Given the description of an element on the screen output the (x, y) to click on. 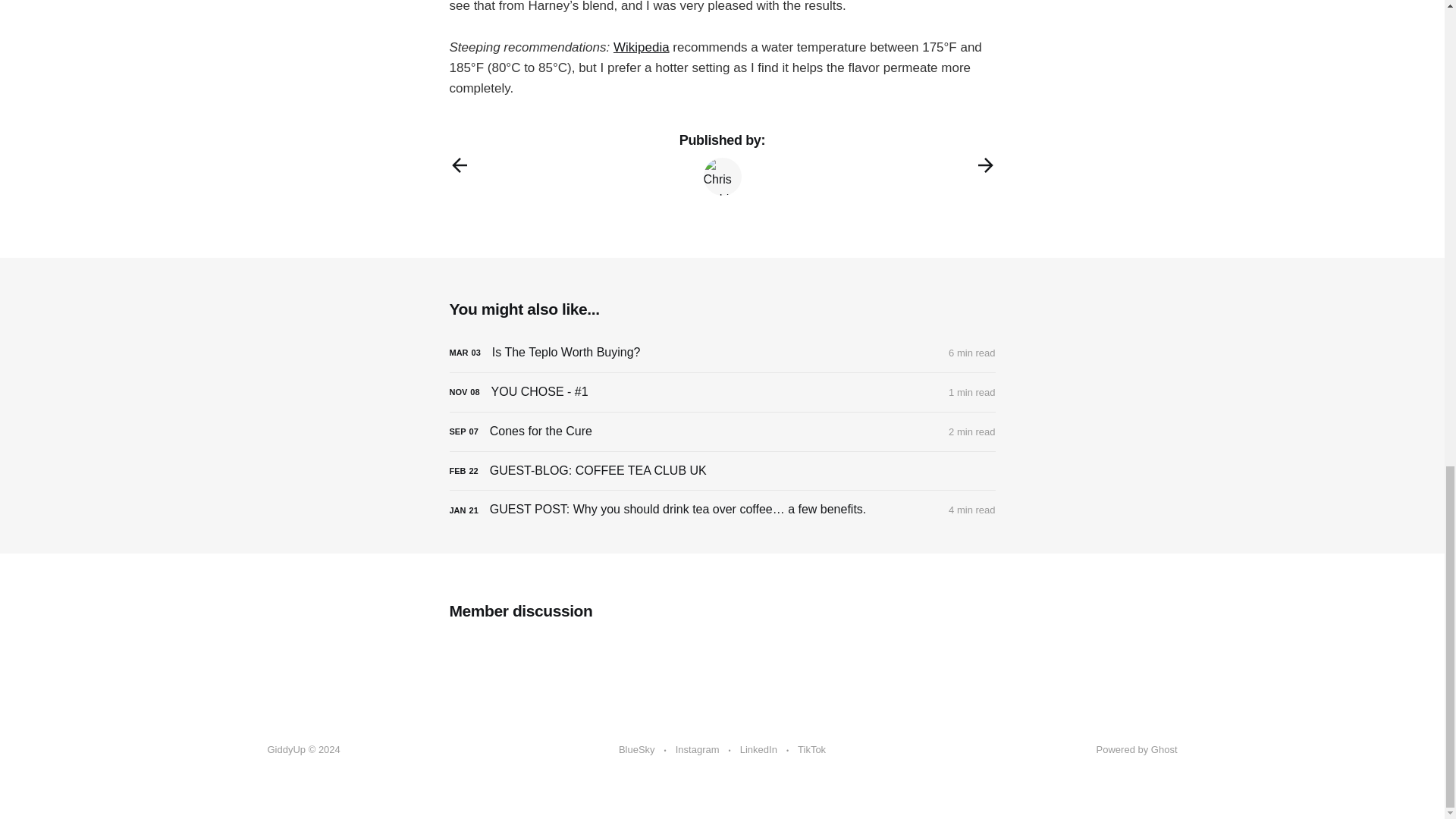
Instagram (697, 750)
Powered by Ghost (1136, 749)
Wikipedia: Genmaicha (640, 47)
Wikipedia (640, 47)
BlueSky (636, 750)
LinkedIn (758, 750)
TikTok (811, 750)
